Given the description of an element on the screen output the (x, y) to click on. 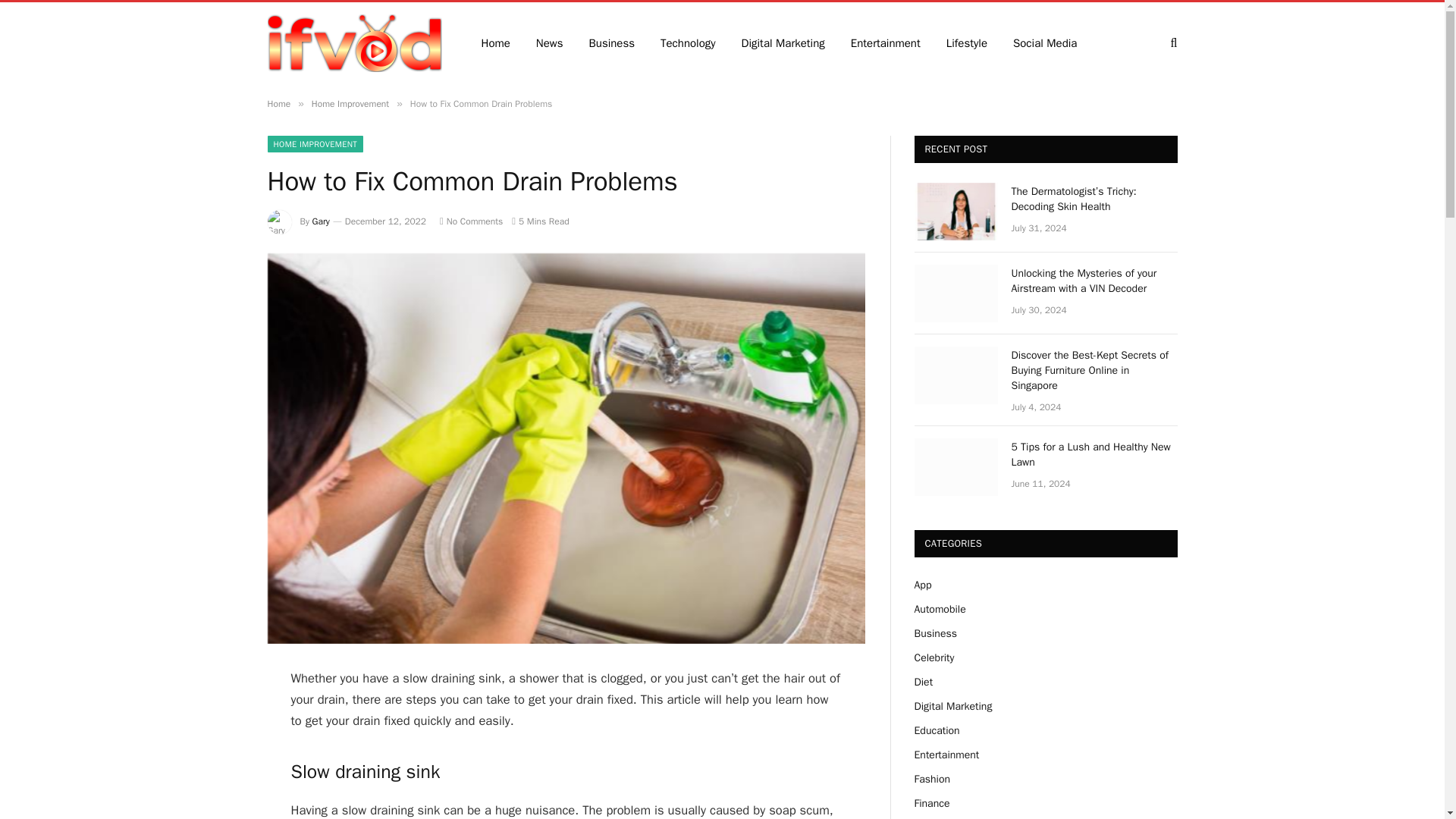
Gary (321, 221)
Posts by Gary (321, 221)
Entertainment (885, 42)
No Comments (470, 221)
Social Media (1044, 42)
Digital Marketing (783, 42)
Technology (688, 42)
Home (277, 103)
HOME IMPROVEMENT (314, 143)
ifvod.io (353, 41)
Home Improvement (349, 103)
